Given the description of an element on the screen output the (x, y) to click on. 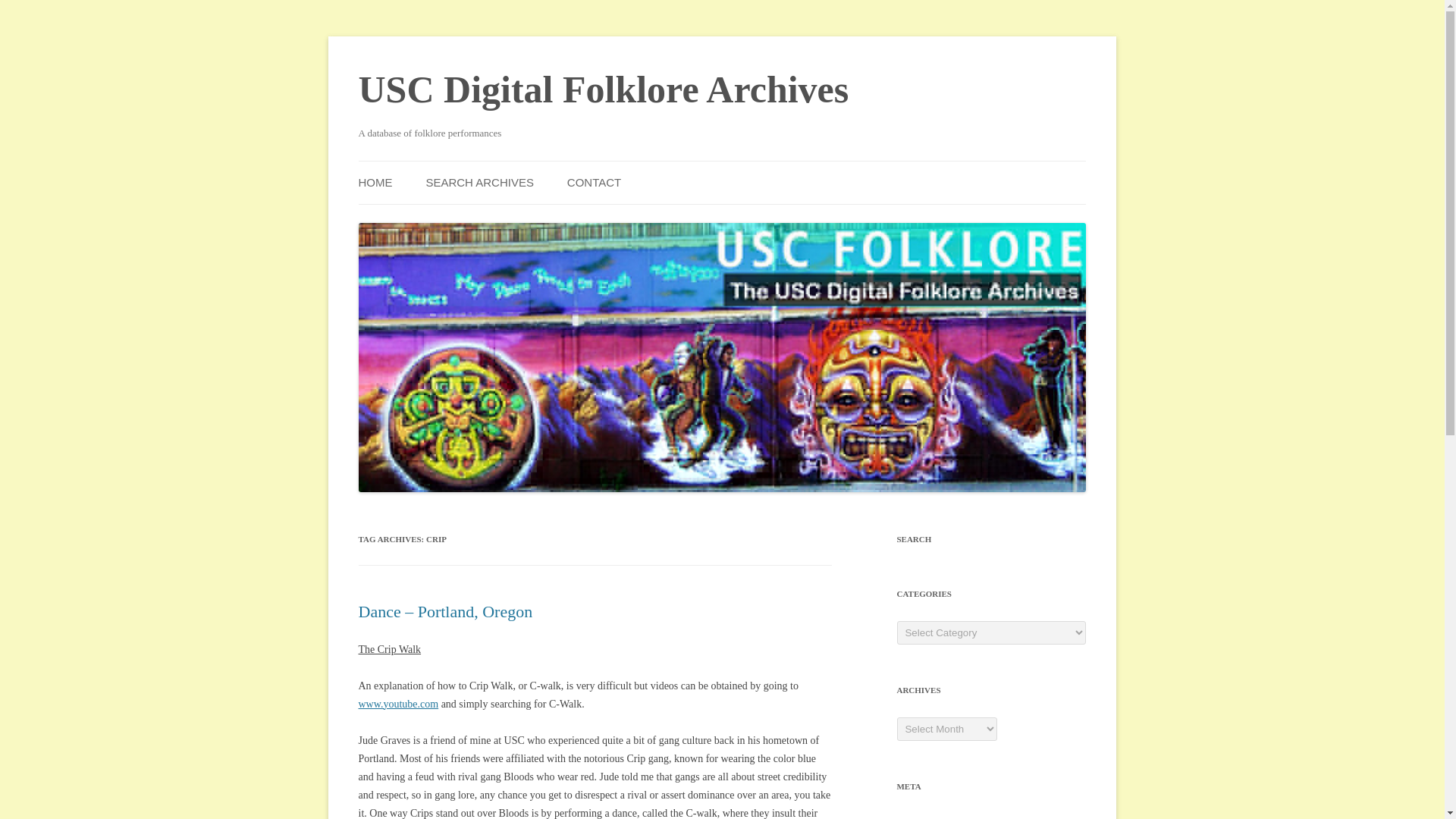
SEARCH ARCHIVES (479, 182)
CONTACT (594, 182)
USC Digital Folklore Archives (603, 89)
Log in (909, 817)
USC Digital Folklore Archives (603, 89)
www.youtube.com (398, 704)
